Given the description of an element on the screen output the (x, y) to click on. 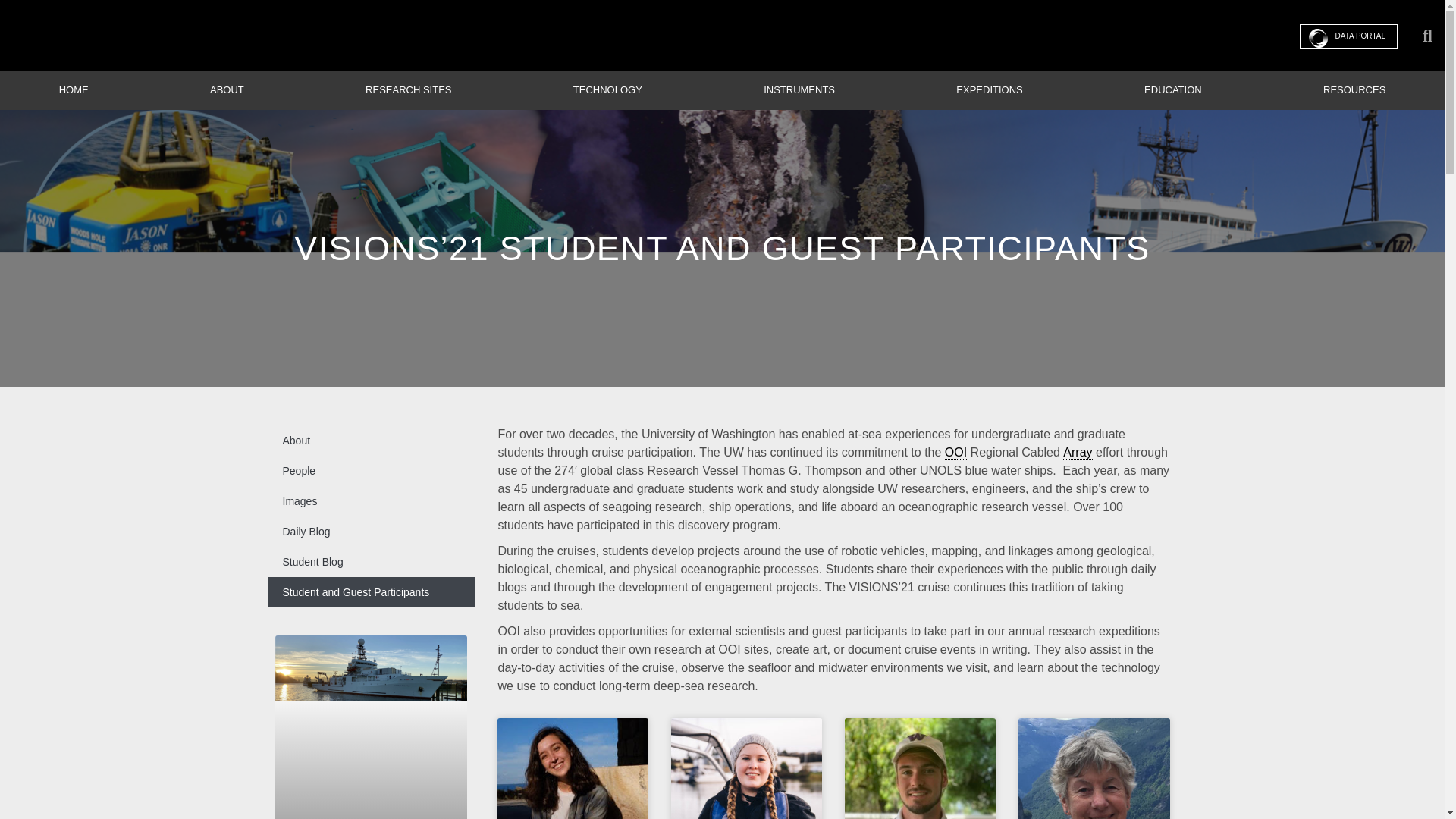
RESEARCH SITES (408, 89)
HOME (73, 89)
INSTRUMENTS (798, 89)
EXPEDITIONS (989, 89)
TECHNOLOGY (606, 89)
DATA PORTAL (1349, 36)
ABOUT (226, 89)
